Given the description of an element on the screen output the (x, y) to click on. 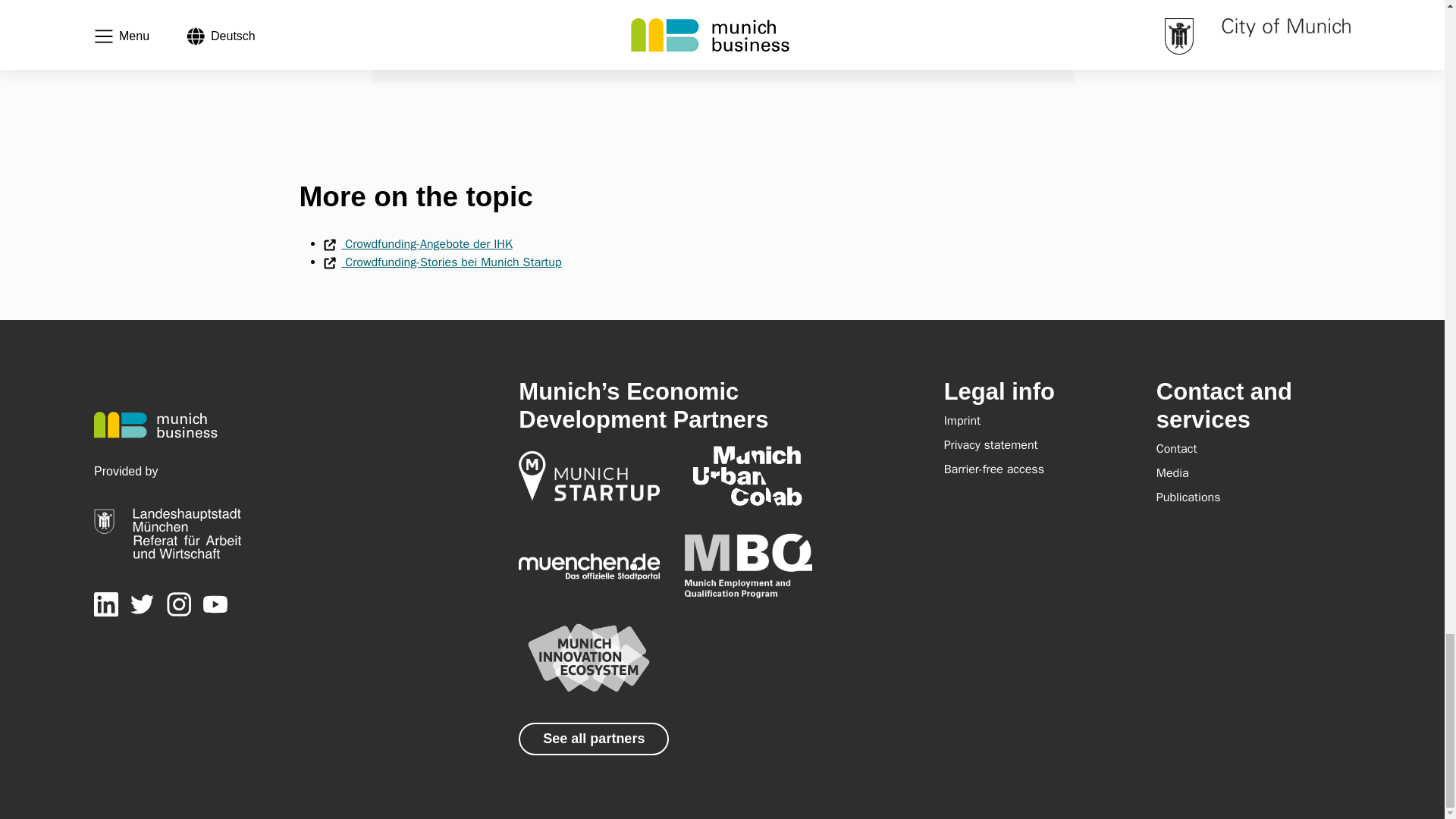
Crowdfunding-Stories bei Munich Startup (441, 262)
Crowdfunding-Angebote der IHK (417, 243)
Logo munich business (155, 424)
Logo LinkedIn (105, 604)
